Given the description of an element on the screen output the (x, y) to click on. 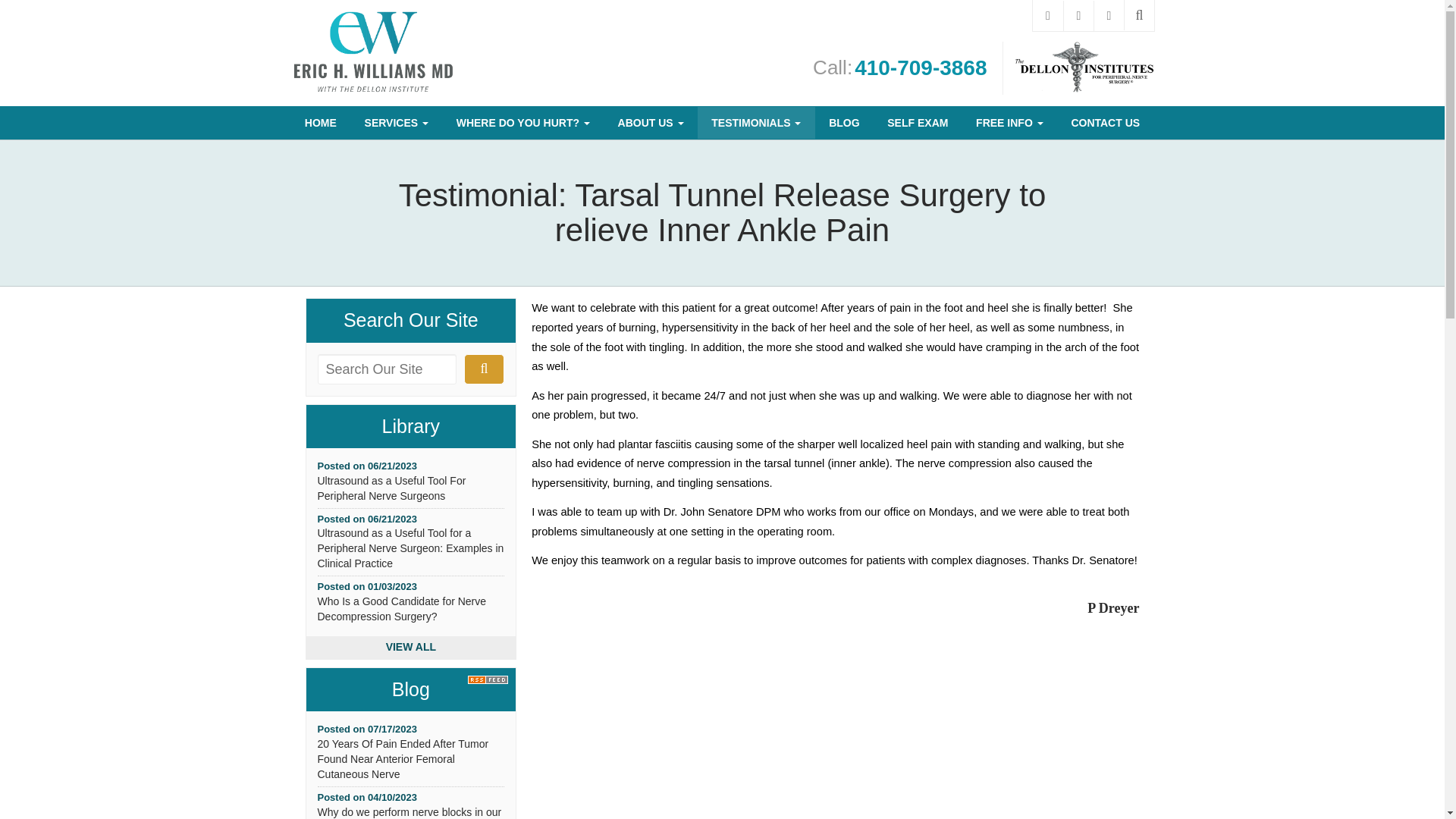
SERVICES (396, 122)
WHERE DO YOU HURT? (523, 122)
Search (1139, 15)
HOME (320, 122)
Subscribe to our RSS Feed (491, 678)
TESTIMONIALS (756, 122)
ABOUT US (650, 122)
Search (483, 368)
